Given the description of an element on the screen output the (x, y) to click on. 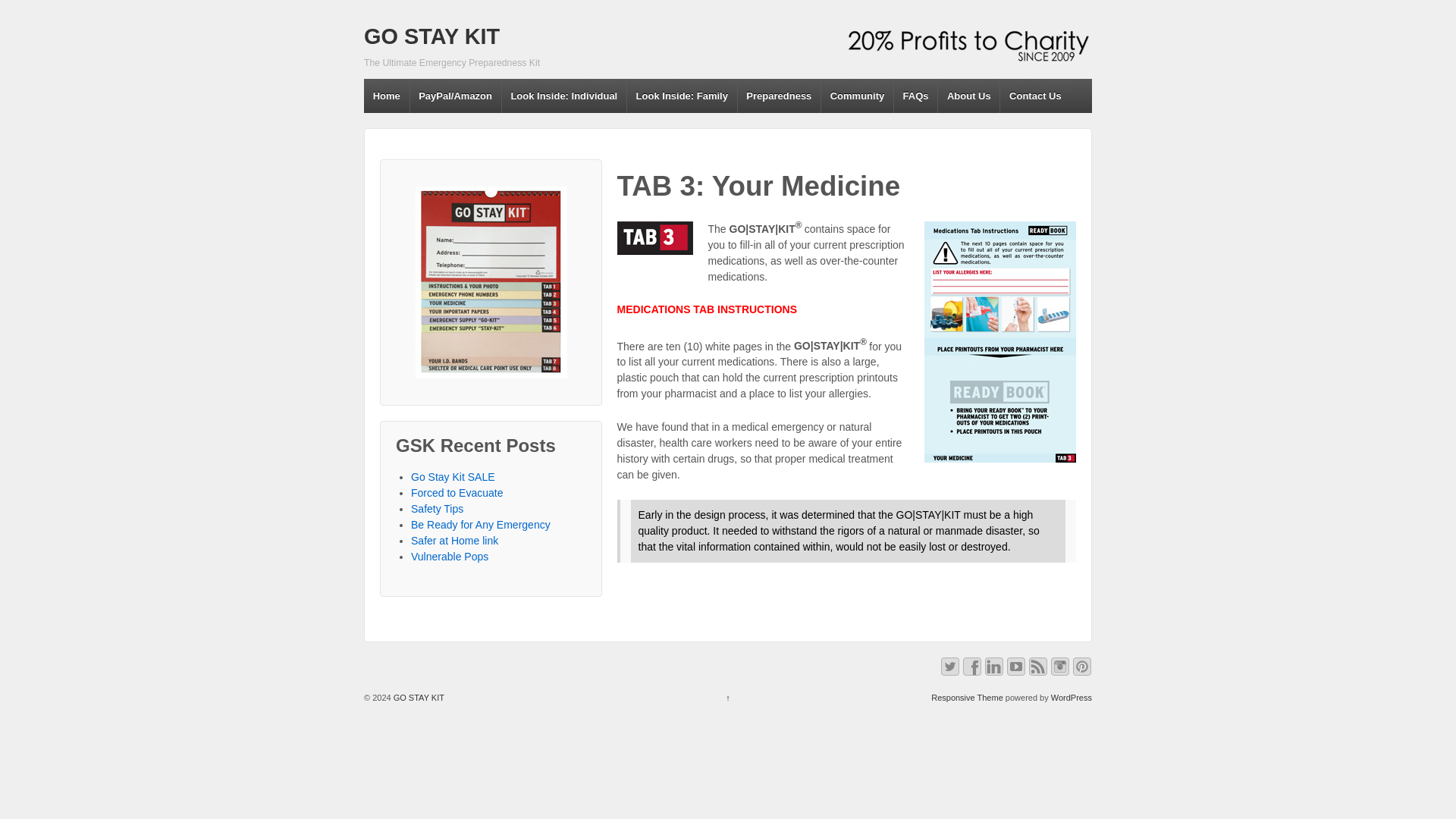
Home (386, 95)
Responsive Theme (967, 696)
Preparedness (778, 95)
Community (857, 95)
Look Inside: Family (681, 95)
GO STAY KIT (417, 696)
Look Inside: Individual (563, 95)
GO STAY KIT (431, 36)
GO STAY KIT (431, 36)
WordPress (1071, 696)
scroll to top (727, 696)
